Given the description of an element on the screen output the (x, y) to click on. 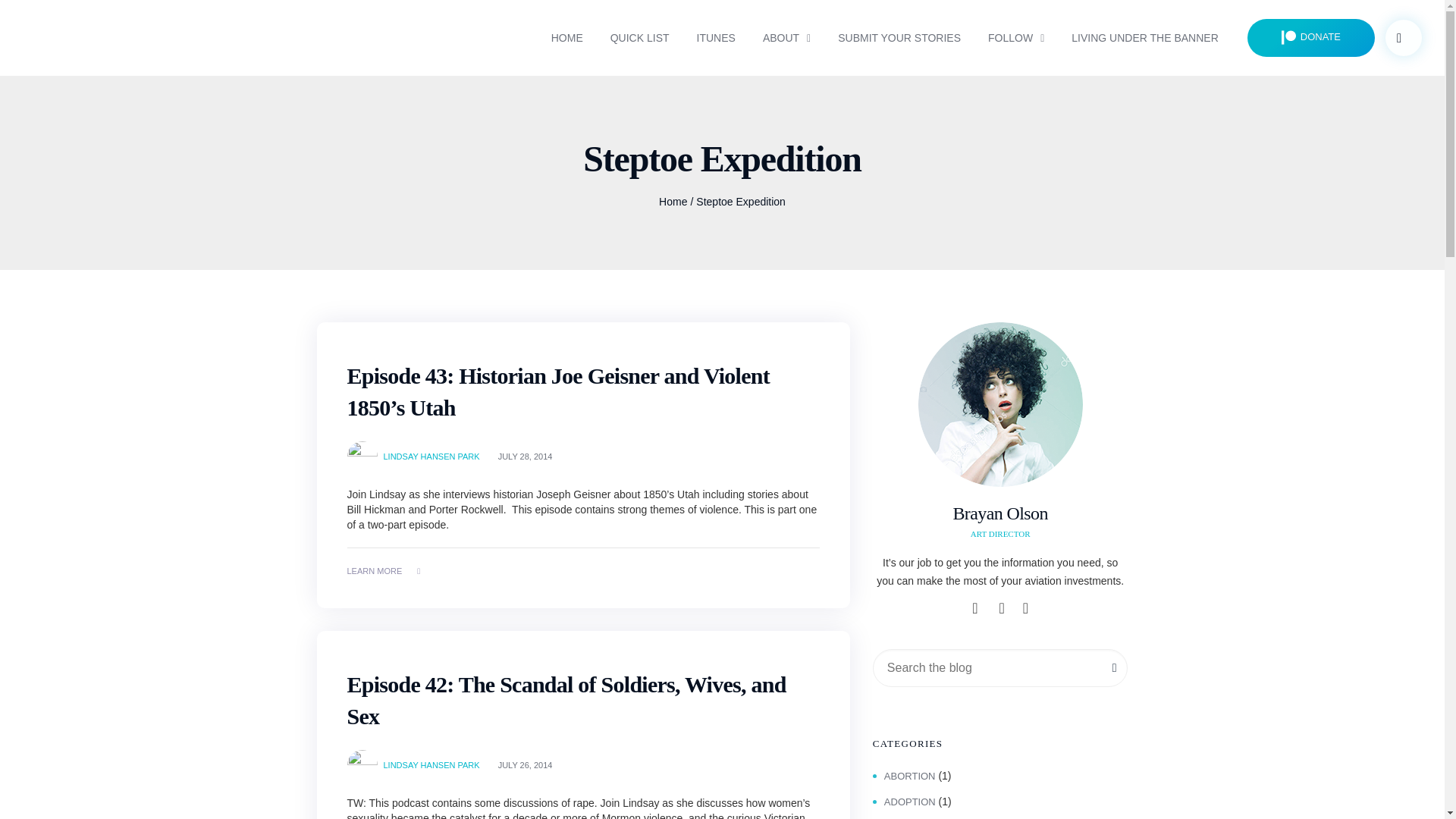
SUBMIT YOUR STORIES (899, 36)
Home (673, 201)
Steptoe Expedition (740, 201)
ABORTION (904, 776)
ADOPTION (904, 801)
QUICK LIST (639, 36)
Episode 42: The Scandal of Soldiers, Wives, and Sex (566, 699)
LINDSAY HANSEN PARK (432, 764)
LEARN MORE (383, 570)
DONATE (1310, 37)
